Given the description of an element on the screen output the (x, y) to click on. 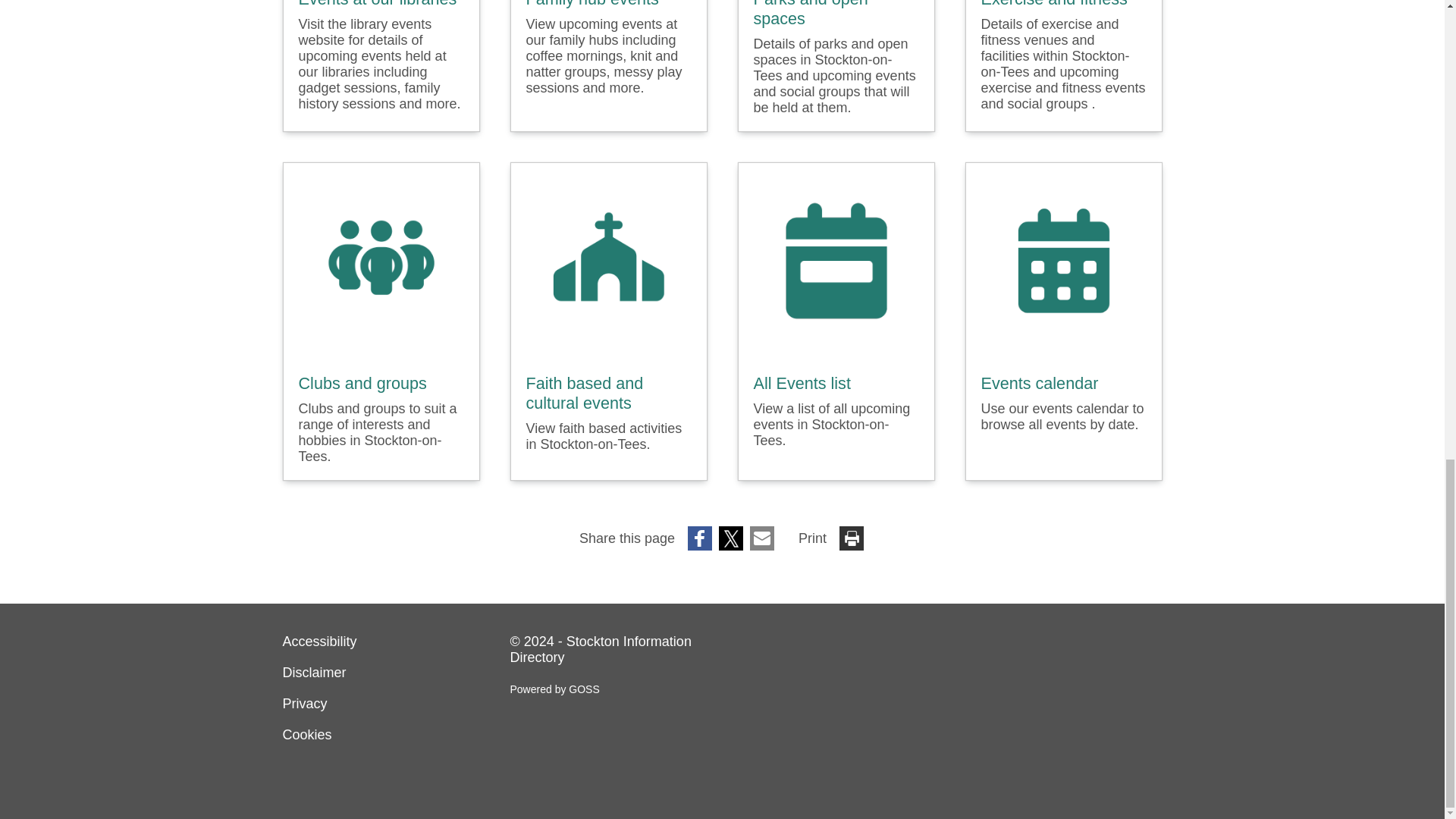
Events at our libraries (377, 4)
Family hub events (592, 4)
Parks and open spaces (836, 14)
Clubs and groups (362, 383)
Faith based and cultural events (608, 393)
Exercise and fitness (1053, 4)
